Given the description of an element on the screen output the (x, y) to click on. 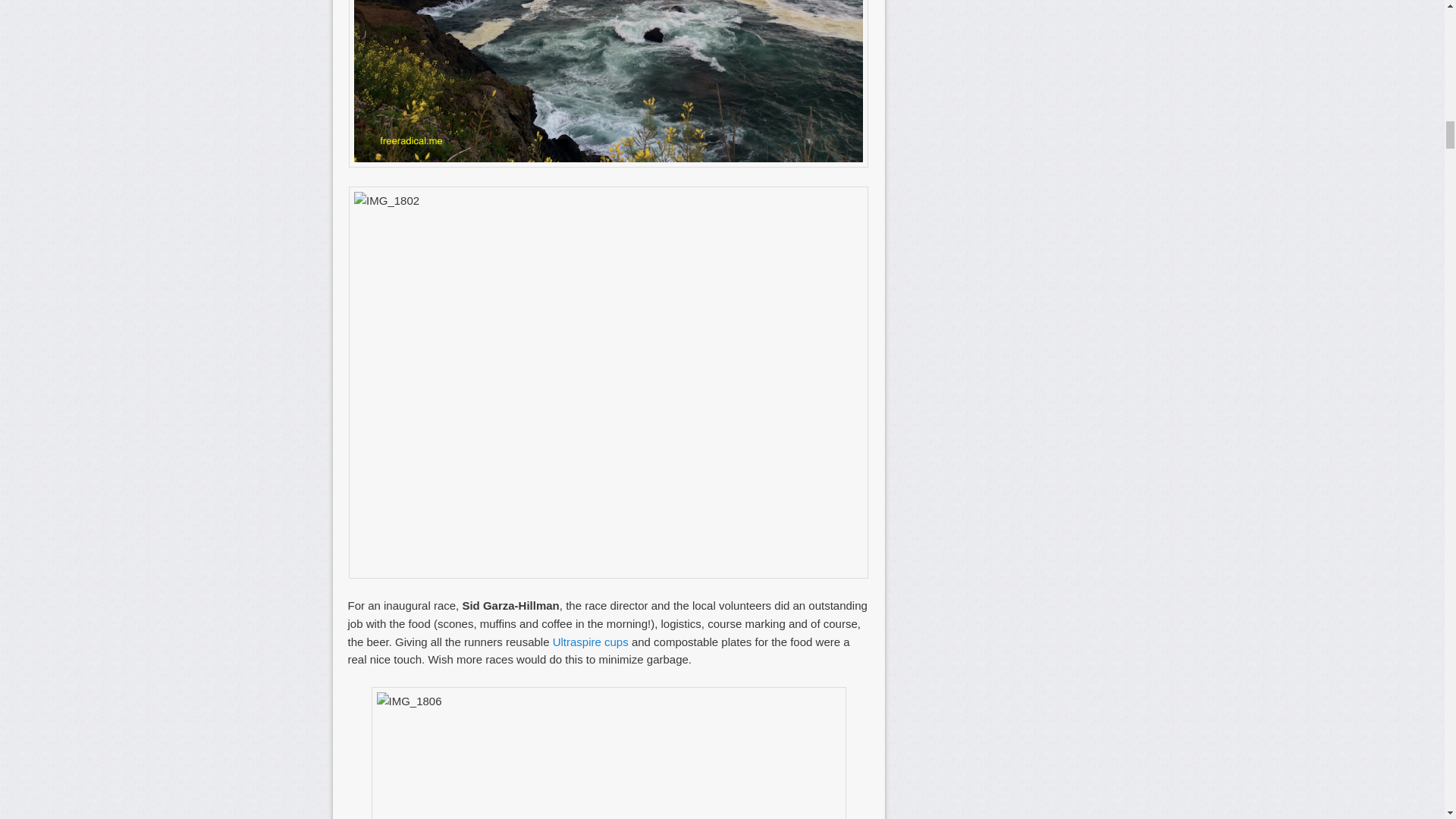
Ultraspire cups (590, 641)
